Given the description of an element on the screen output the (x, y) to click on. 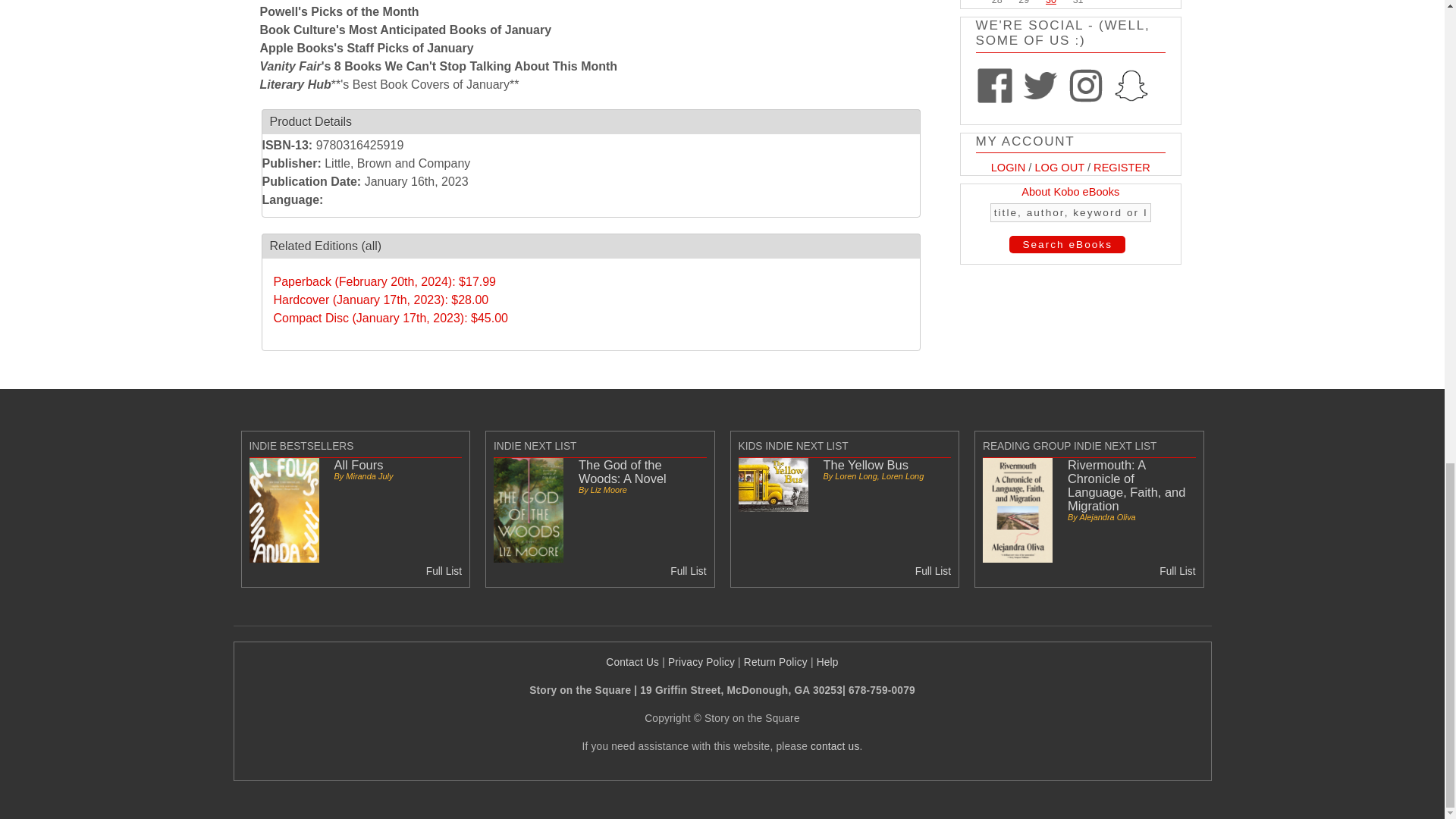
title, author, keyword or ISBN (1070, 212)
Search eBooks (1067, 244)
